Given the description of an element on the screen output the (x, y) to click on. 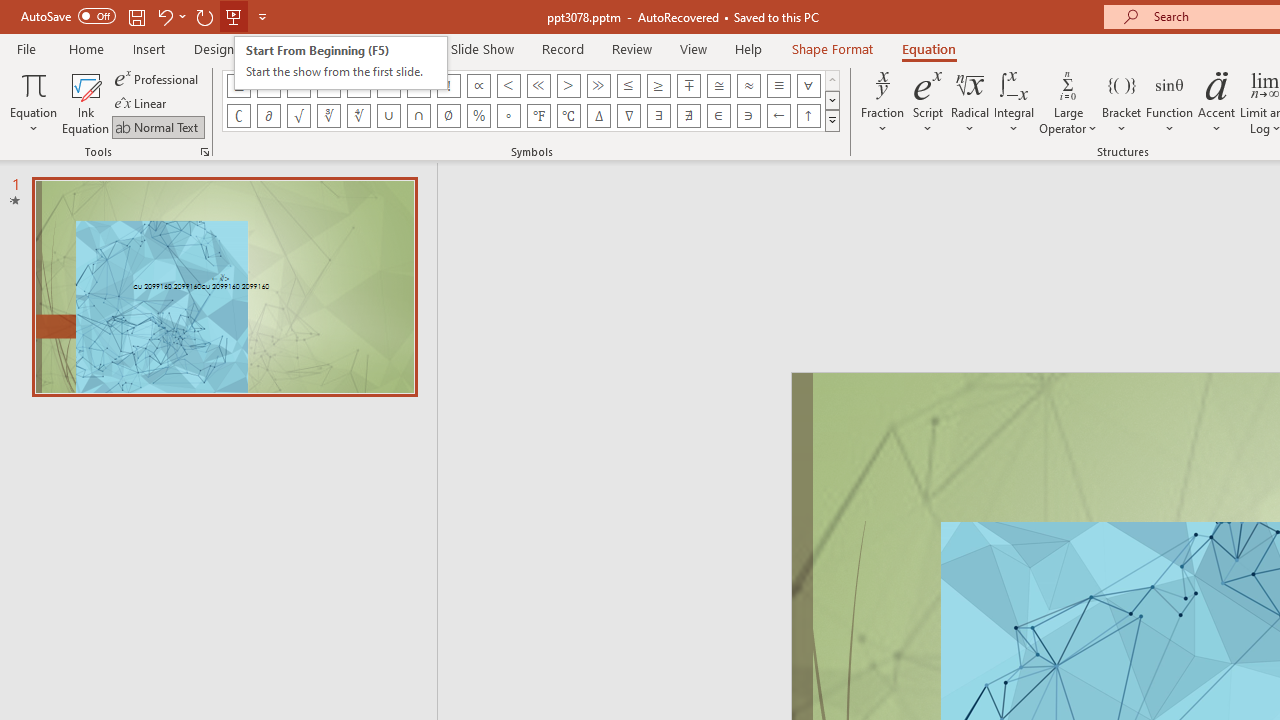
Equation Symbol Degrees Celsius (568, 115)
Equation Symbol Less Than (508, 85)
Equation Symbol There Does Not Exist (689, 115)
Equation Symbol Infinity (268, 85)
Equation Symbol There Exists (658, 115)
Equation Symbol Fourth Root (358, 115)
Accent (1216, 102)
Equation Symbol Degrees (508, 115)
Equation Symbol Increment (598, 115)
